Given the description of an element on the screen output the (x, y) to click on. 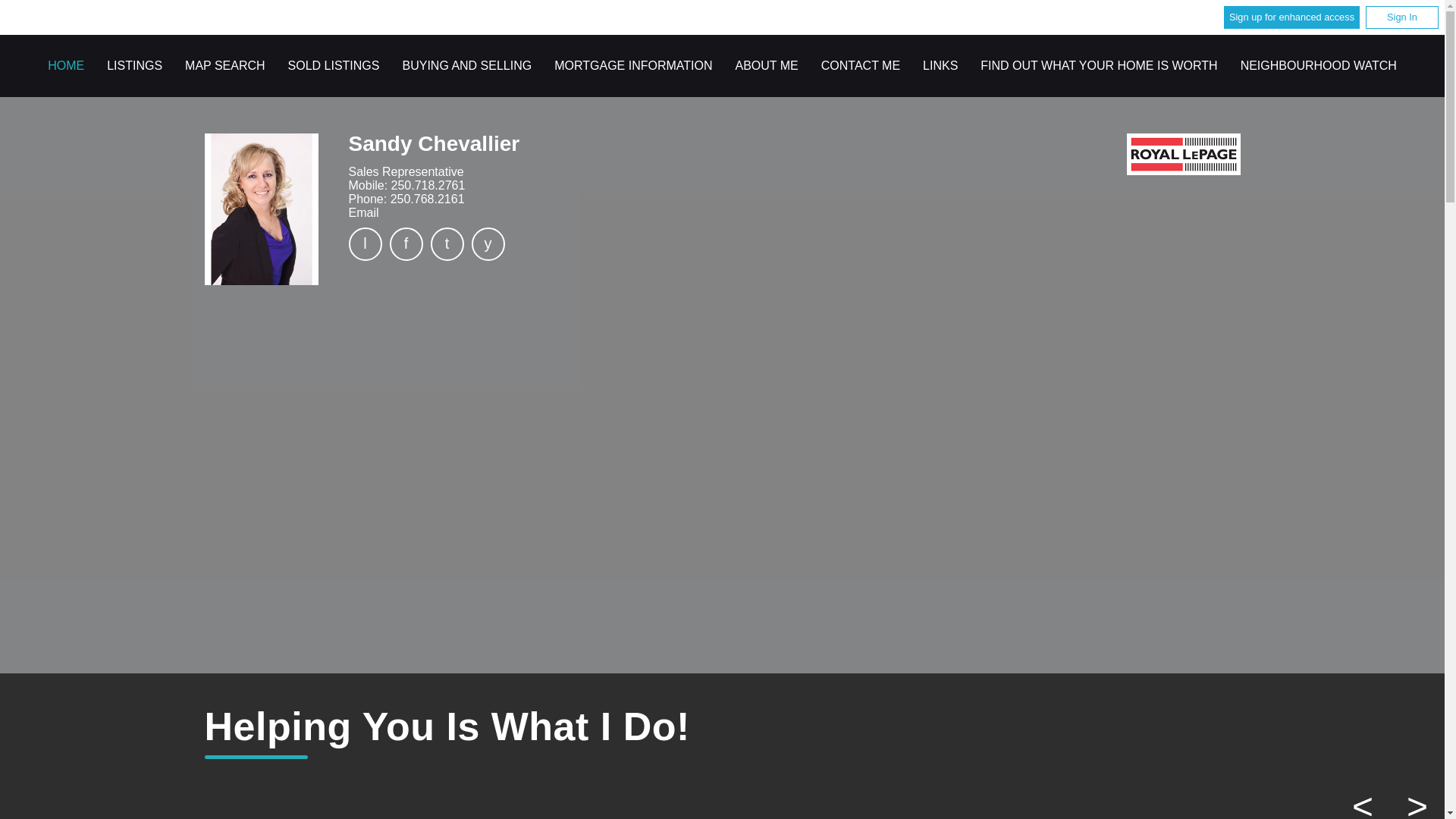
Find out what your home is worth (1098, 65)
About Me (766, 65)
CONTACT ME (860, 65)
Listings (133, 65)
LISTINGS (133, 65)
Contact Me (860, 65)
MORTGAGE INFORMATION (632, 65)
MAP SEARCH (224, 65)
Sandy Chevallier (261, 209)
BUYING AND SELLING (466, 65)
LINKS (940, 65)
Home (1183, 154)
Buying and Selling (466, 65)
Mortgage Information (632, 65)
ABOUT ME (766, 65)
